Given the description of an element on the screen output the (x, y) to click on. 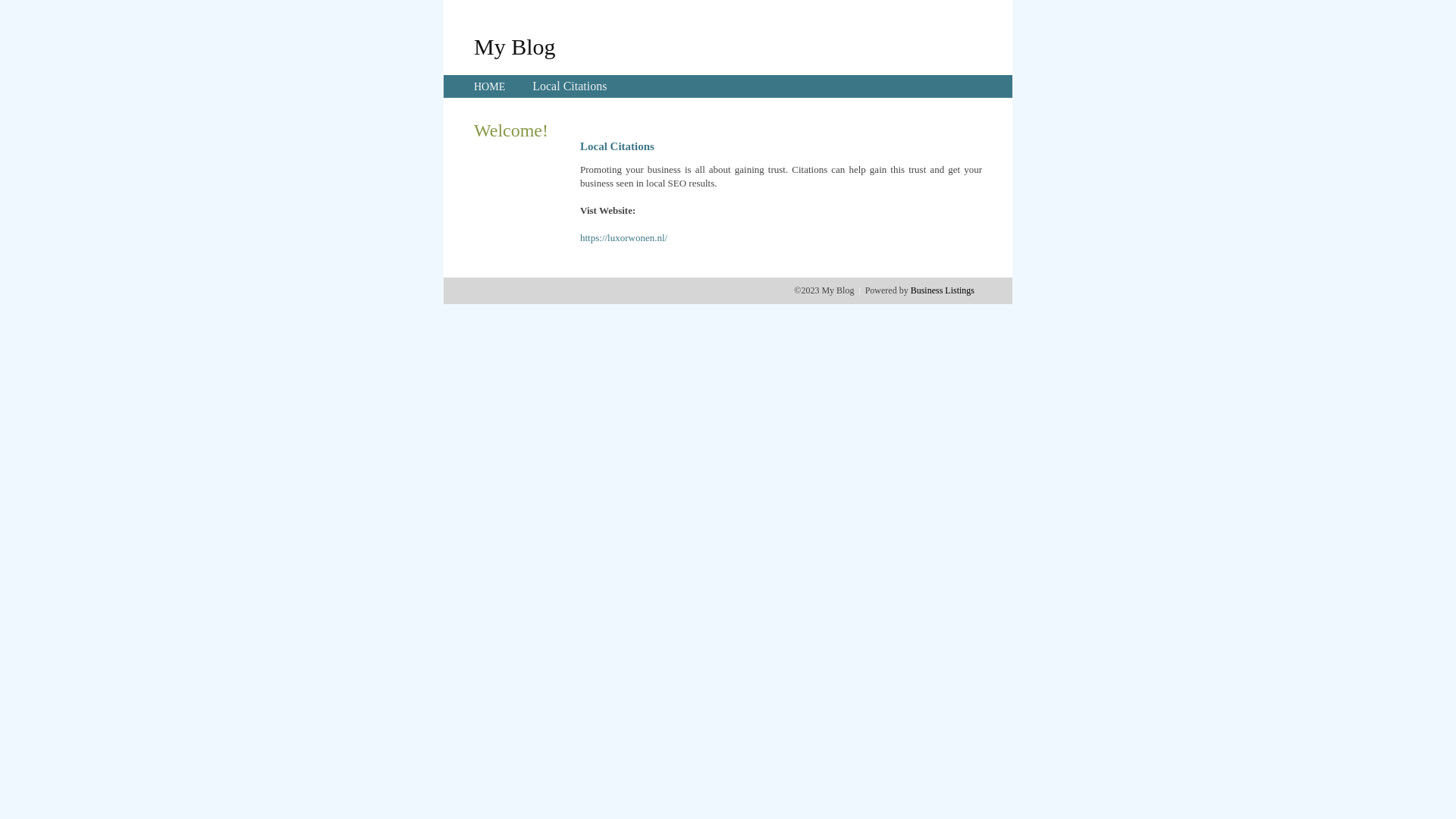
Business Listings Element type: text (942, 290)
https://luxorwonen.nl/ Element type: text (623, 237)
HOME Element type: text (489, 86)
Local Citations Element type: text (569, 85)
My Blog Element type: text (514, 46)
